Given the description of an element on the screen output the (x, y) to click on. 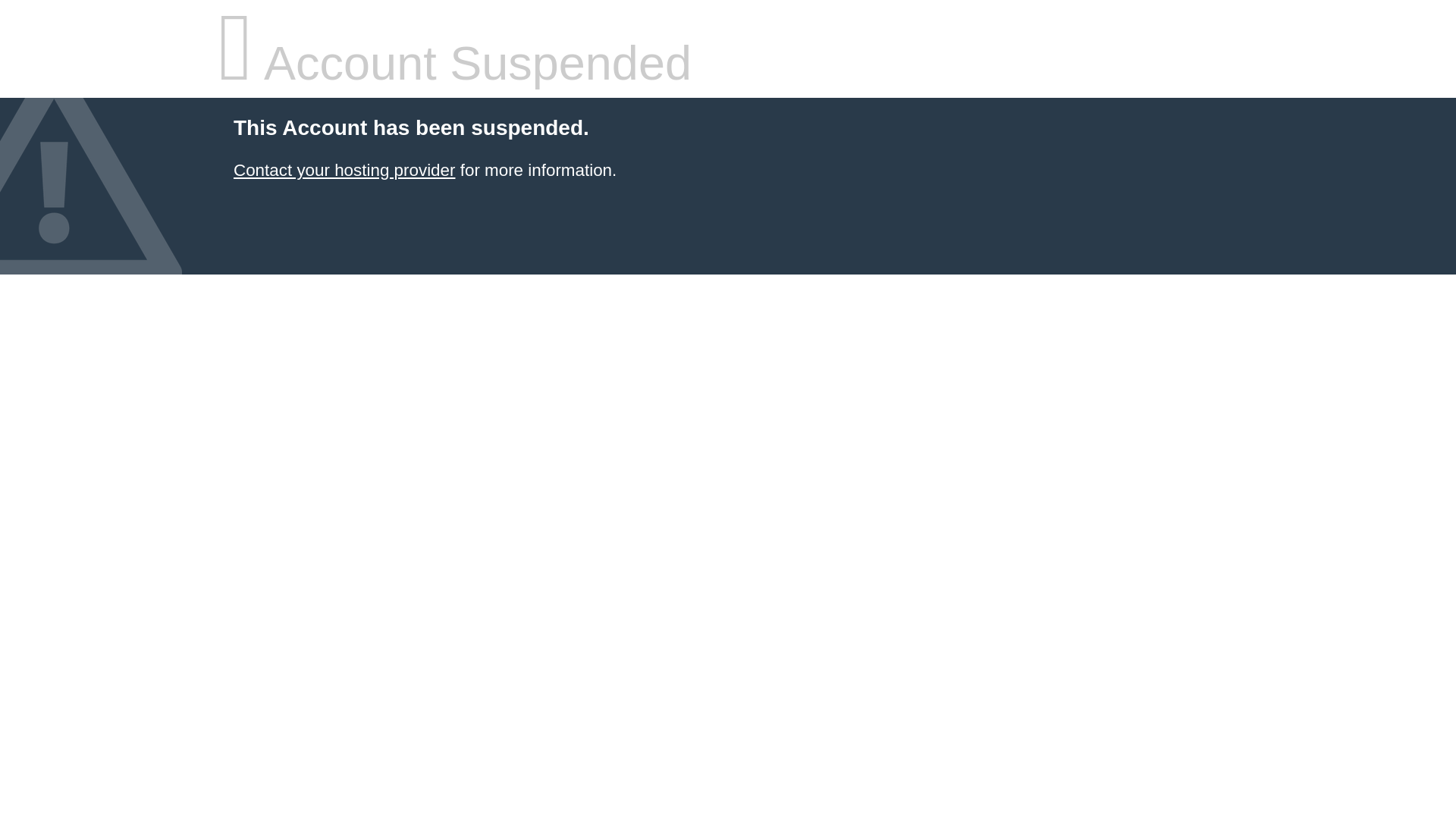
Contact your hosting provider (343, 169)
